Given the description of an element on the screen output the (x, y) to click on. 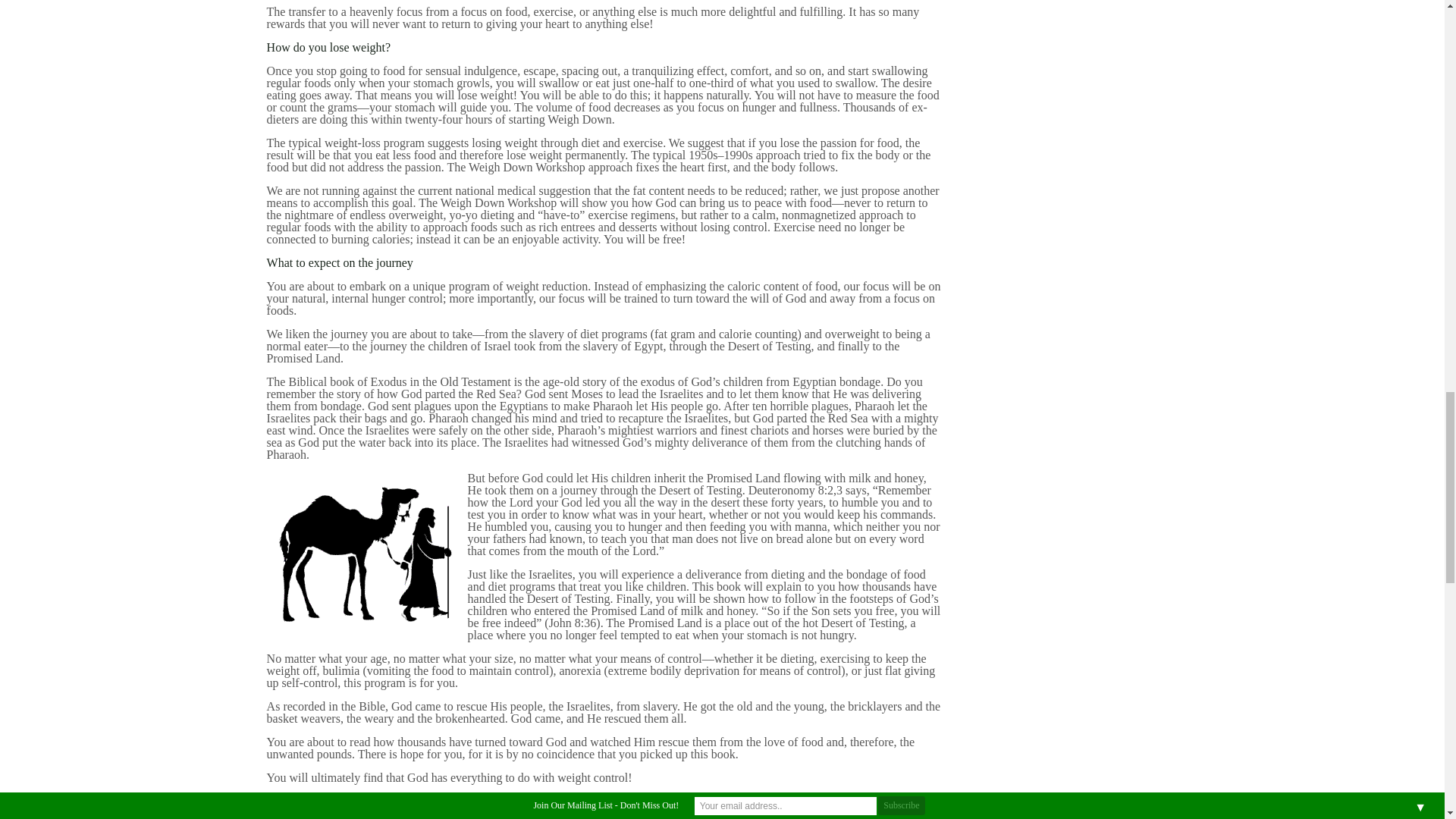
The Weigh Down Diet Book (408, 801)
The Weigh Down Diet (408, 801)
The Walk to the Promised Land (361, 557)
